Given the description of an element on the screen output the (x, y) to click on. 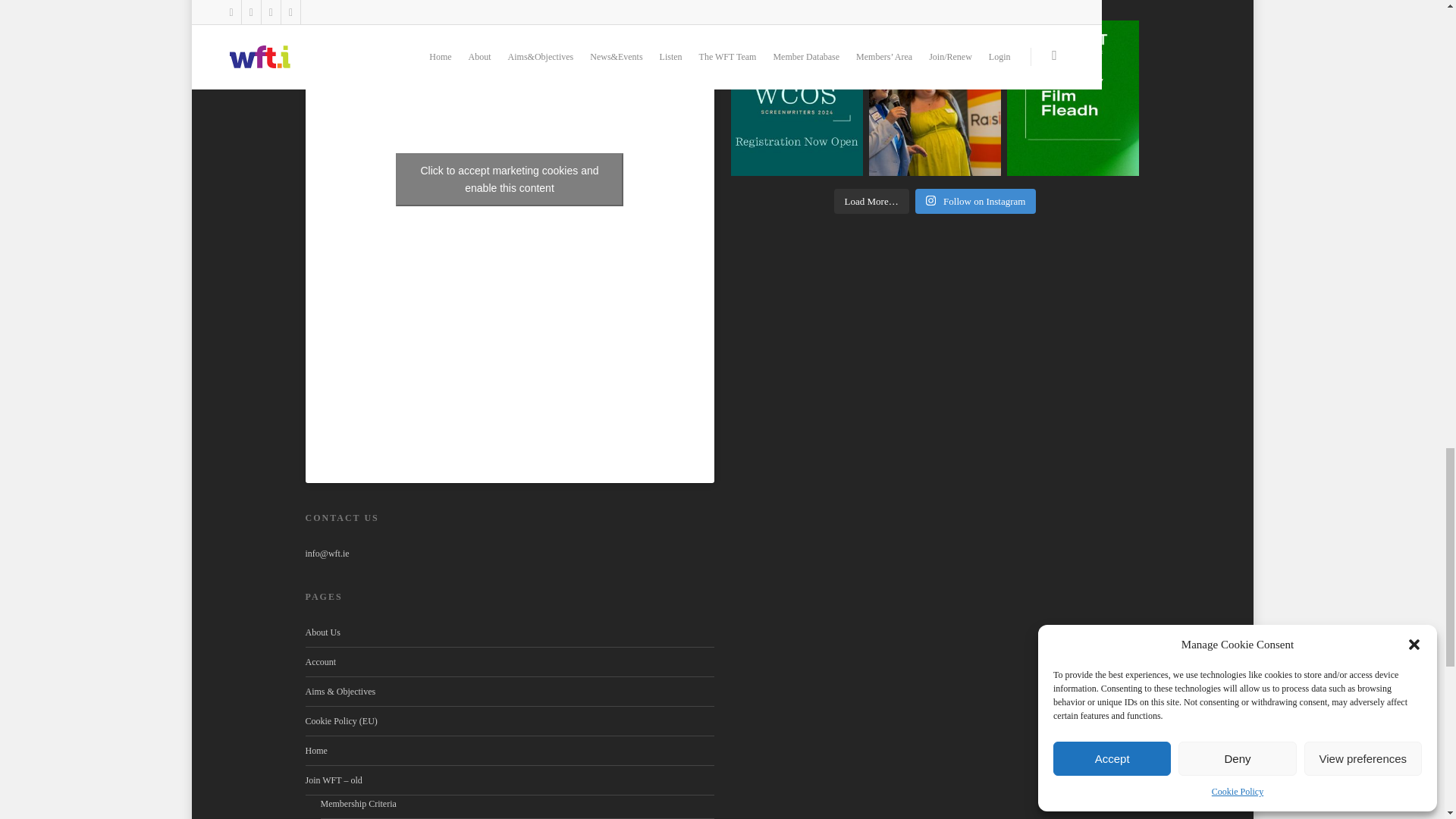
Click to accept marketing cookies and enable this content (509, 179)
About Us (508, 635)
